Given the description of an element on the screen output the (x, y) to click on. 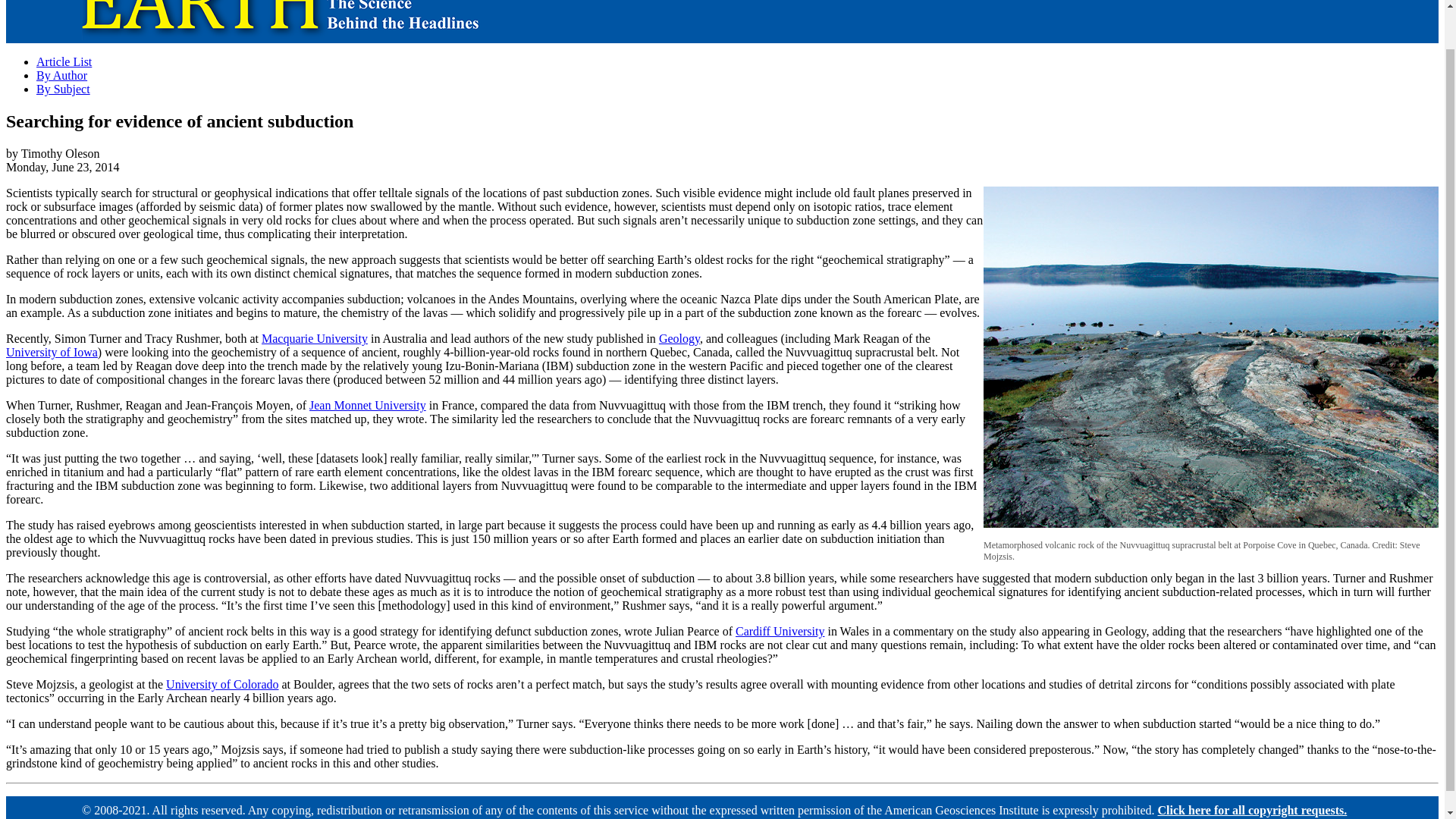
University of Colorado (221, 684)
University of Iowa (51, 351)
By Subject (63, 88)
Cardiff University (779, 631)
Geology (679, 338)
Click here for all copyright requests. (1252, 809)
Jean Monnet University (367, 404)
Macquarie University (315, 338)
By Author (61, 74)
Article List (63, 61)
